Given the description of an element on the screen output the (x, y) to click on. 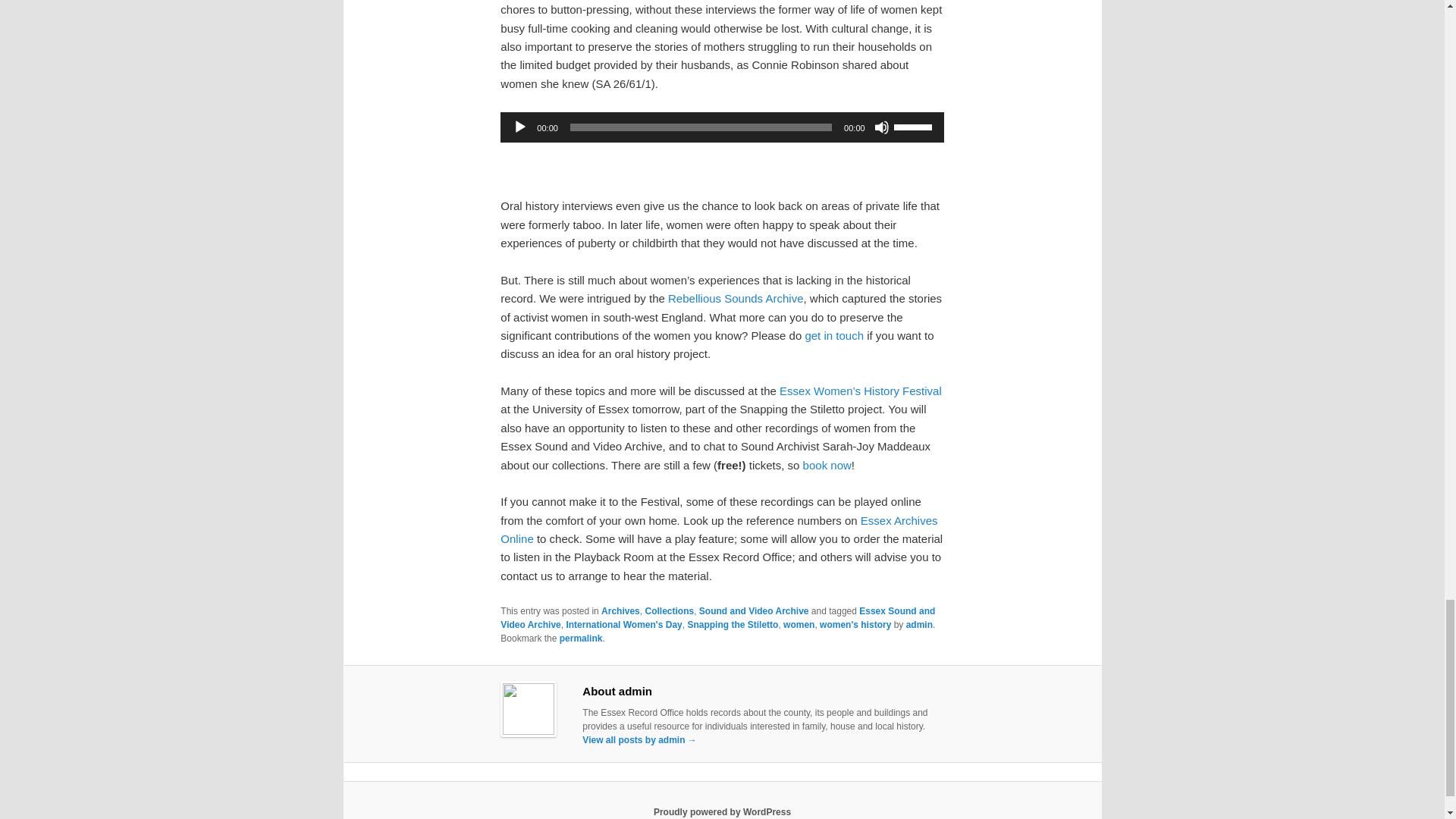
Semantic Personal Publishing Platform (721, 811)
Mute (882, 127)
Play (519, 127)
